Given the description of an element on the screen output the (x, y) to click on. 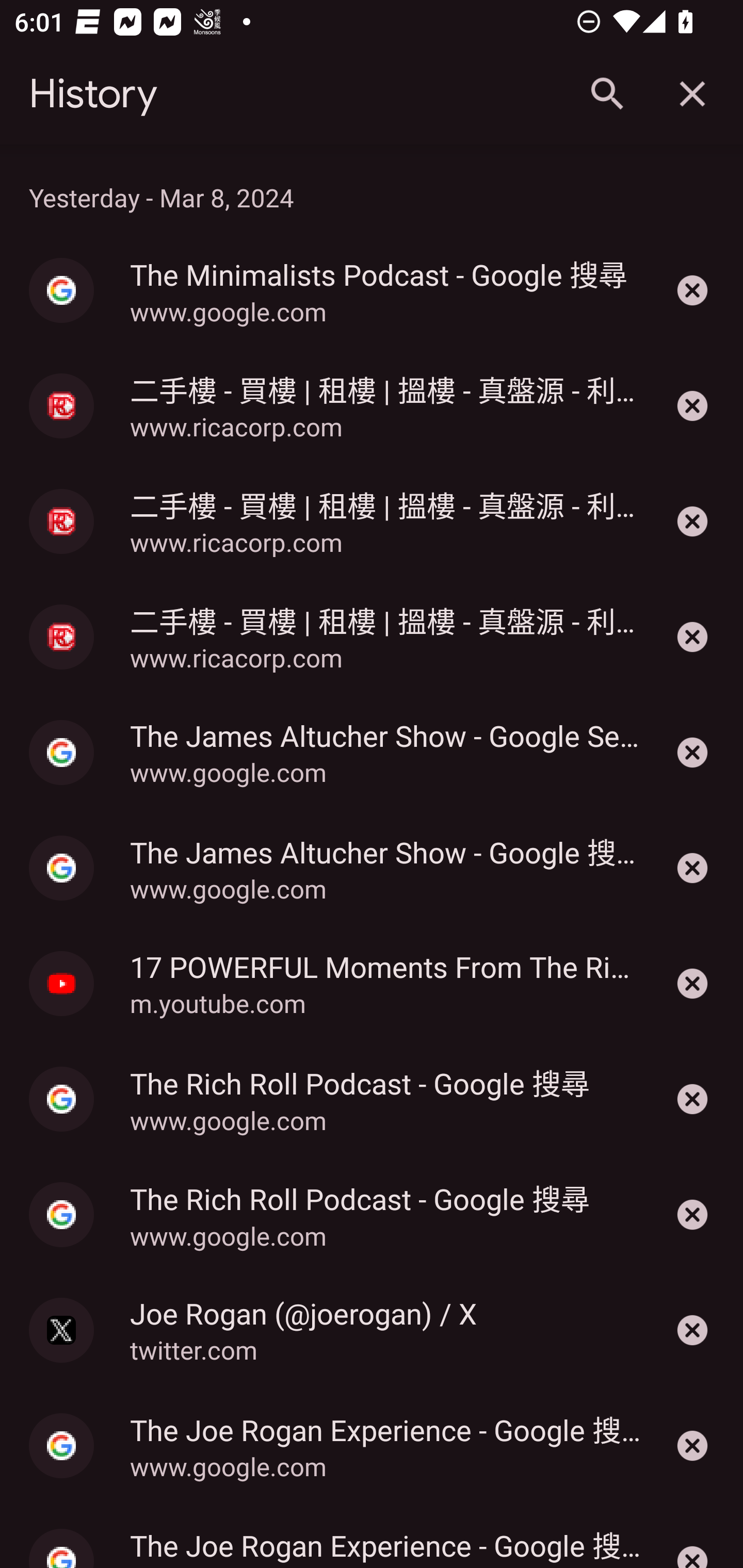
Search (605, 93)
Close (692, 93)
The Minimalists Podcast - Google 搜尋 Remove (692, 290)
二手樓 - 買樓 | 租樓 | 搵樓 - 真盤源 - 利嘉閣地產有限公司 Remove (692, 406)
二手樓 - 買樓 | 租樓 | 搵樓 - 真盤源 - 利嘉閣地產有限公司 Remove (692, 521)
二手樓 - 買樓 | 租樓 | 搵樓 - 真盤源 - 利嘉閣地產有限公司 Remove (692, 636)
The James Altucher Show - Google Search Remove (692, 752)
The James Altucher Show - Google 搜尋 Remove (692, 867)
The Rich Roll Podcast - Google 搜尋 Remove (692, 1099)
The Rich Roll Podcast - Google 搜尋 Remove (692, 1215)
Joe Rogan (@joerogan) / X Remove (692, 1330)
The Joe Rogan Experience - Google 搜尋 Remove (692, 1445)
The Joe Rogan Experience - Google 搜尋 Remove (692, 1535)
